Given the description of an element on the screen output the (x, y) to click on. 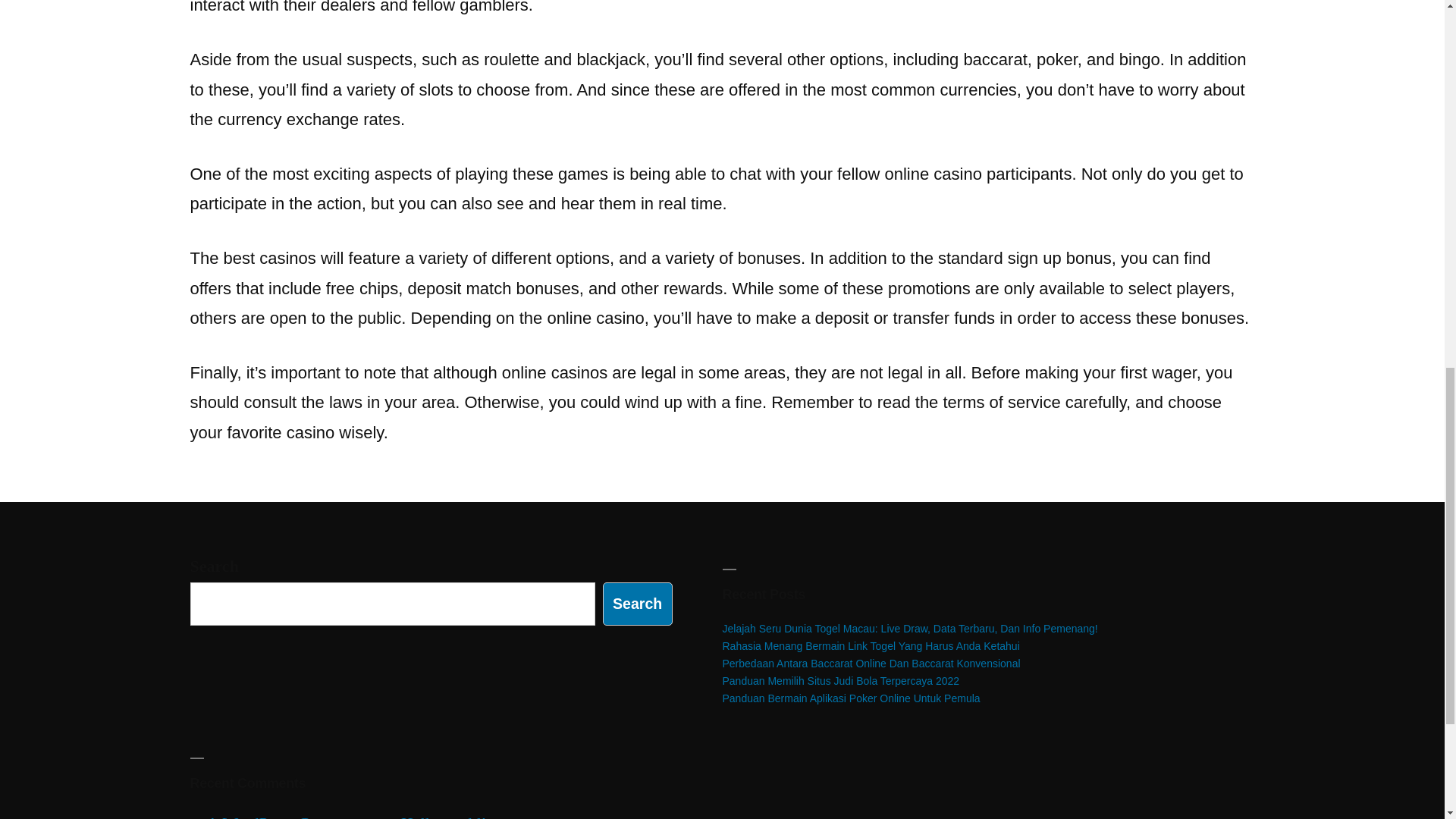
Hello world! (443, 816)
Perbedaan Antara Baccarat Online Dan Baccarat Konvensional (871, 663)
Rahasia Menang Bermain Link Togel Yang Harus Anda Ketahui (870, 645)
Panduan Bermain Aplikasi Poker Online Untuk Pemula (850, 698)
Search (637, 603)
Panduan Memilih Situs Judi Bola Terpercaya 2022 (840, 680)
A WordPress Commenter (291, 816)
